Given the description of an element on the screen output the (x, y) to click on. 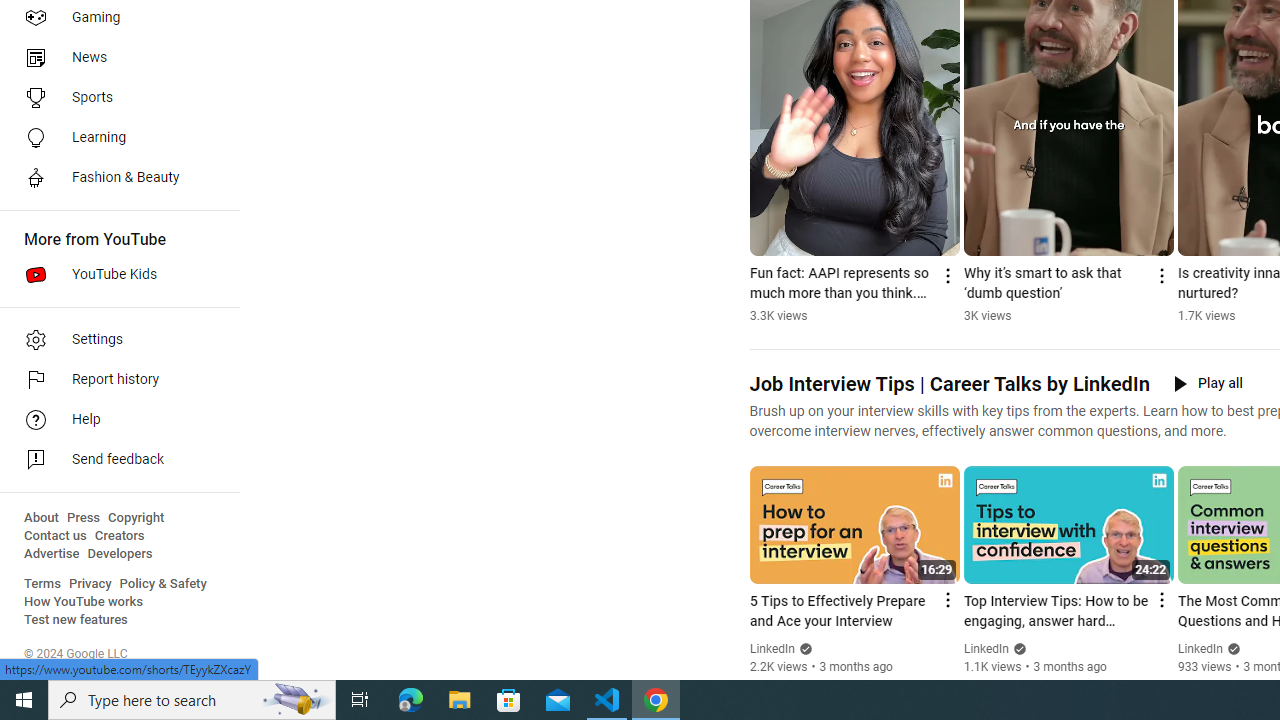
Fashion & Beauty (113, 177)
About (41, 518)
Job Interview Tips | Career Talks by LinkedIn (948, 384)
Creators (118, 536)
Learning (113, 137)
Developers (120, 554)
LinkedIn (1200, 649)
Copyright (136, 518)
How YouTube works (83, 602)
Contact us (55, 536)
Settings (113, 339)
